Given the description of an element on the screen output the (x, y) to click on. 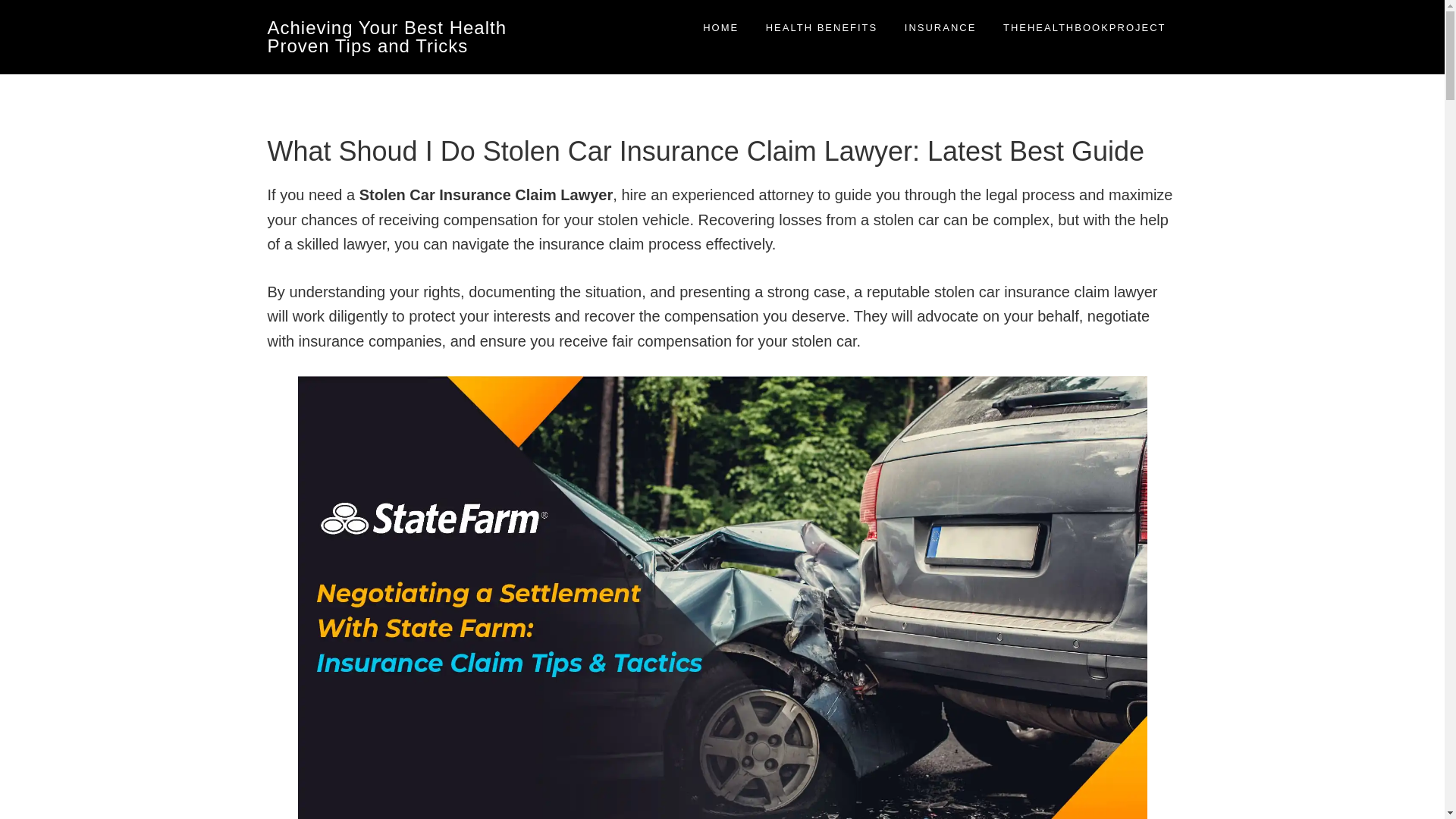
Achieving Your Best Health Proven Tips and Tricks (386, 36)
HEALTH BENEFITS (821, 27)
HOME (720, 27)
INSURANCE (940, 27)
THEHEALTHBOOKPROJECT (1084, 27)
